Given the description of an element on the screen output the (x, y) to click on. 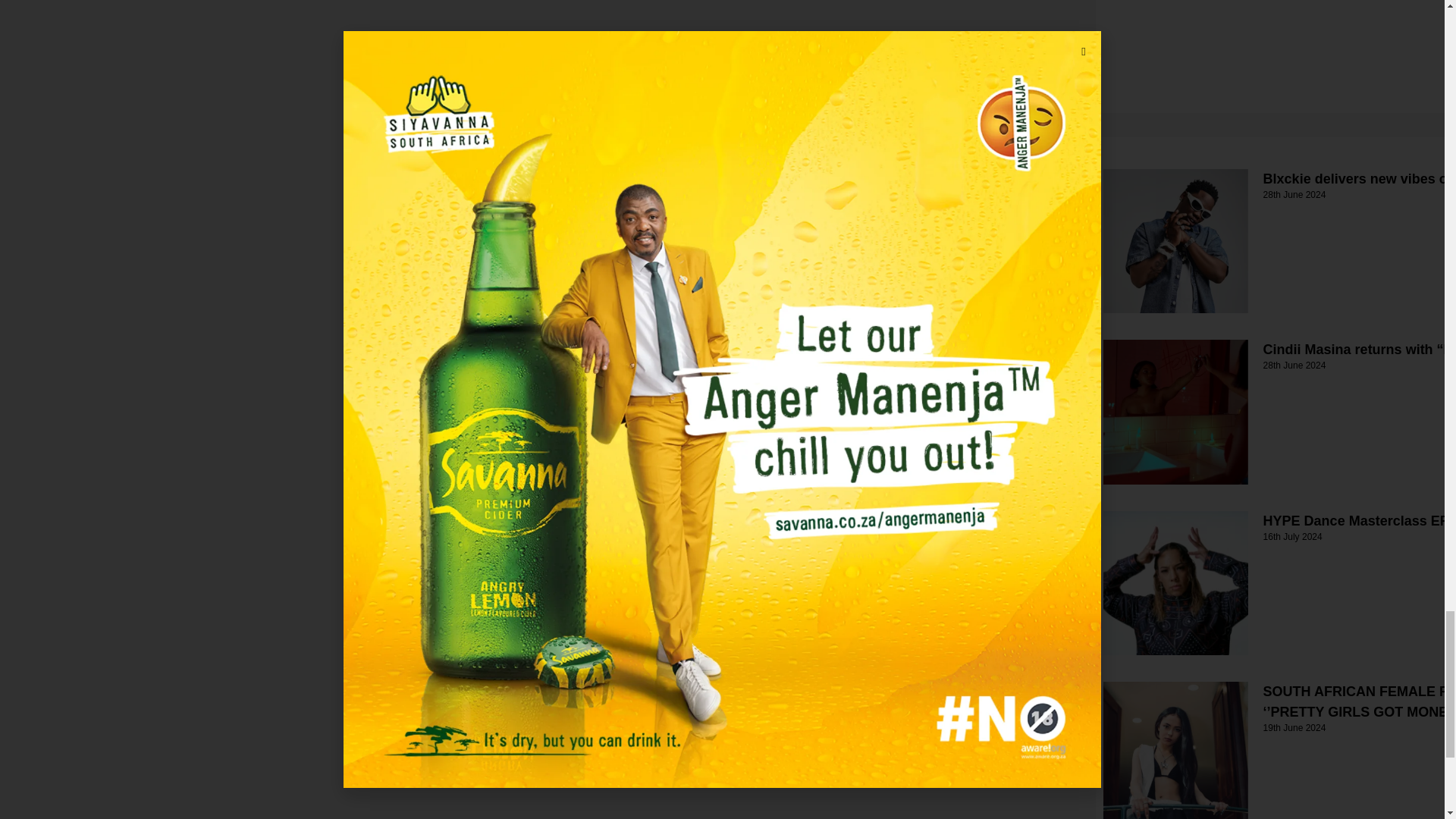
3rd party ad content (1209, 44)
